Given the description of an element on the screen output the (x, y) to click on. 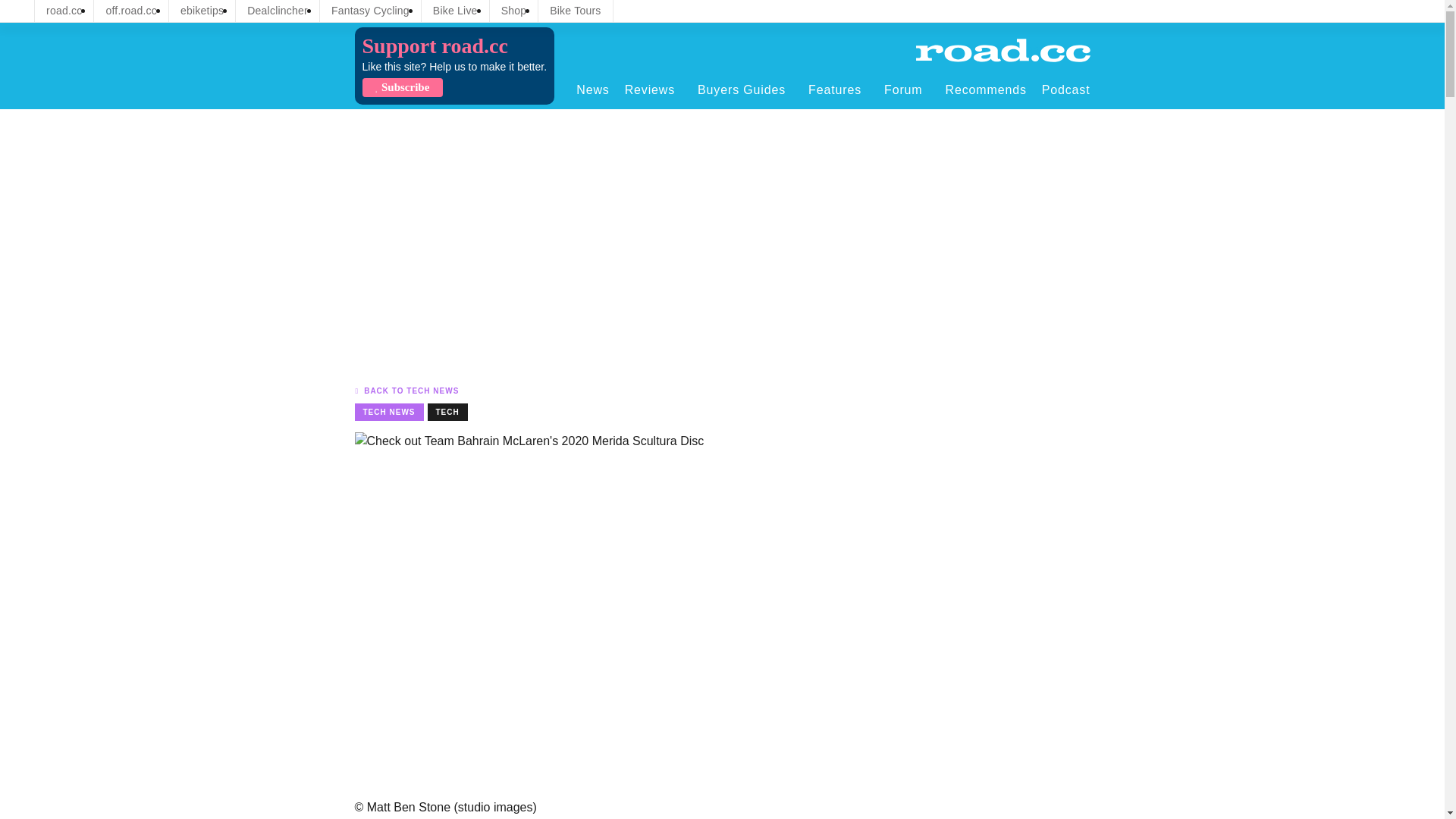
Reviews (653, 89)
off.road.cc (131, 11)
Shop (513, 11)
Home (1002, 50)
ebiketips (201, 11)
road.cc (63, 11)
Bike Live (455, 11)
Bike Tours (574, 11)
Dealclincher (276, 11)
Subscribe (402, 87)
